Given the description of an element on the screen output the (x, y) to click on. 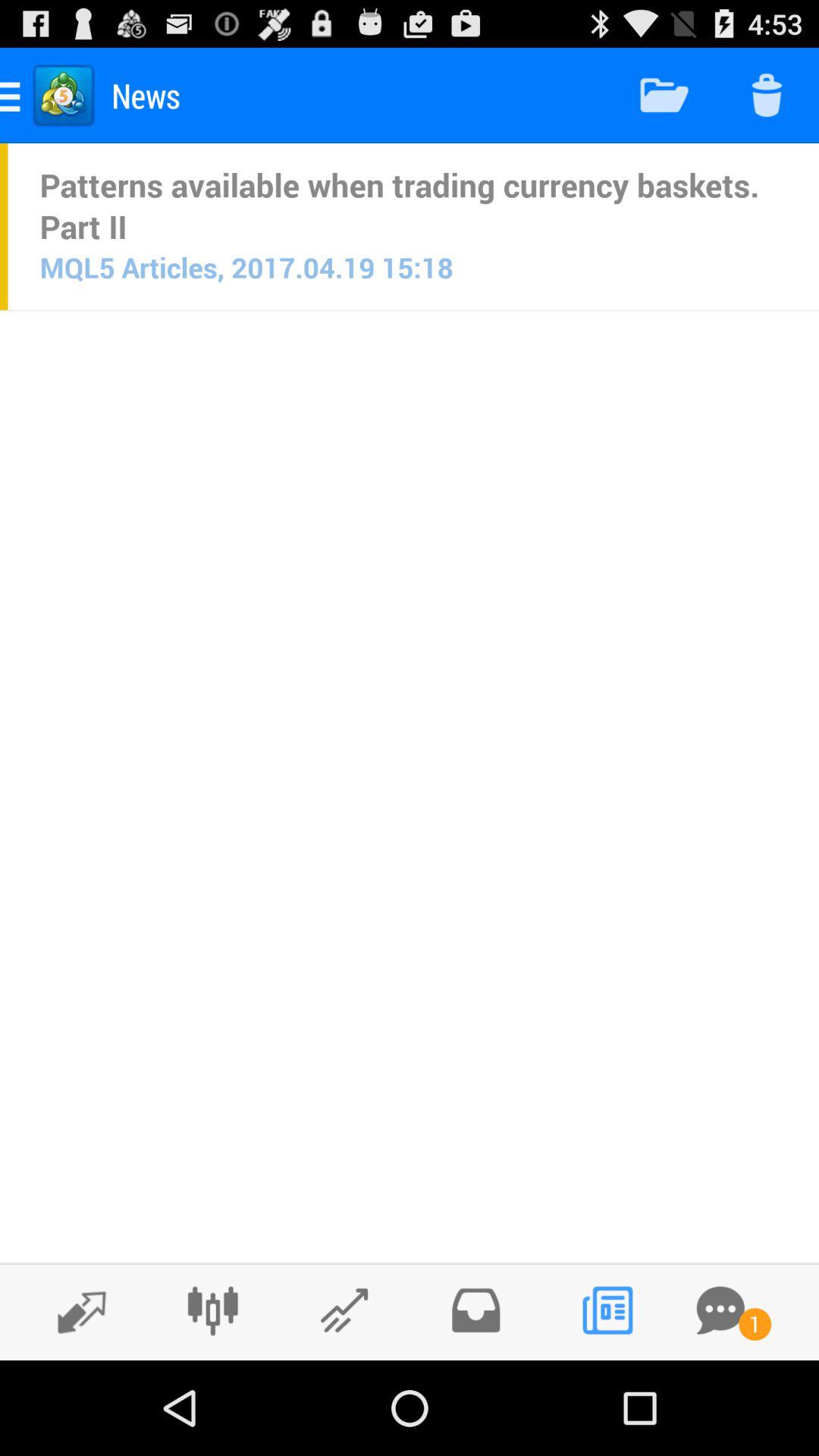
scroll to patterns available when icon (413, 205)
